Given the description of an element on the screen output the (x, y) to click on. 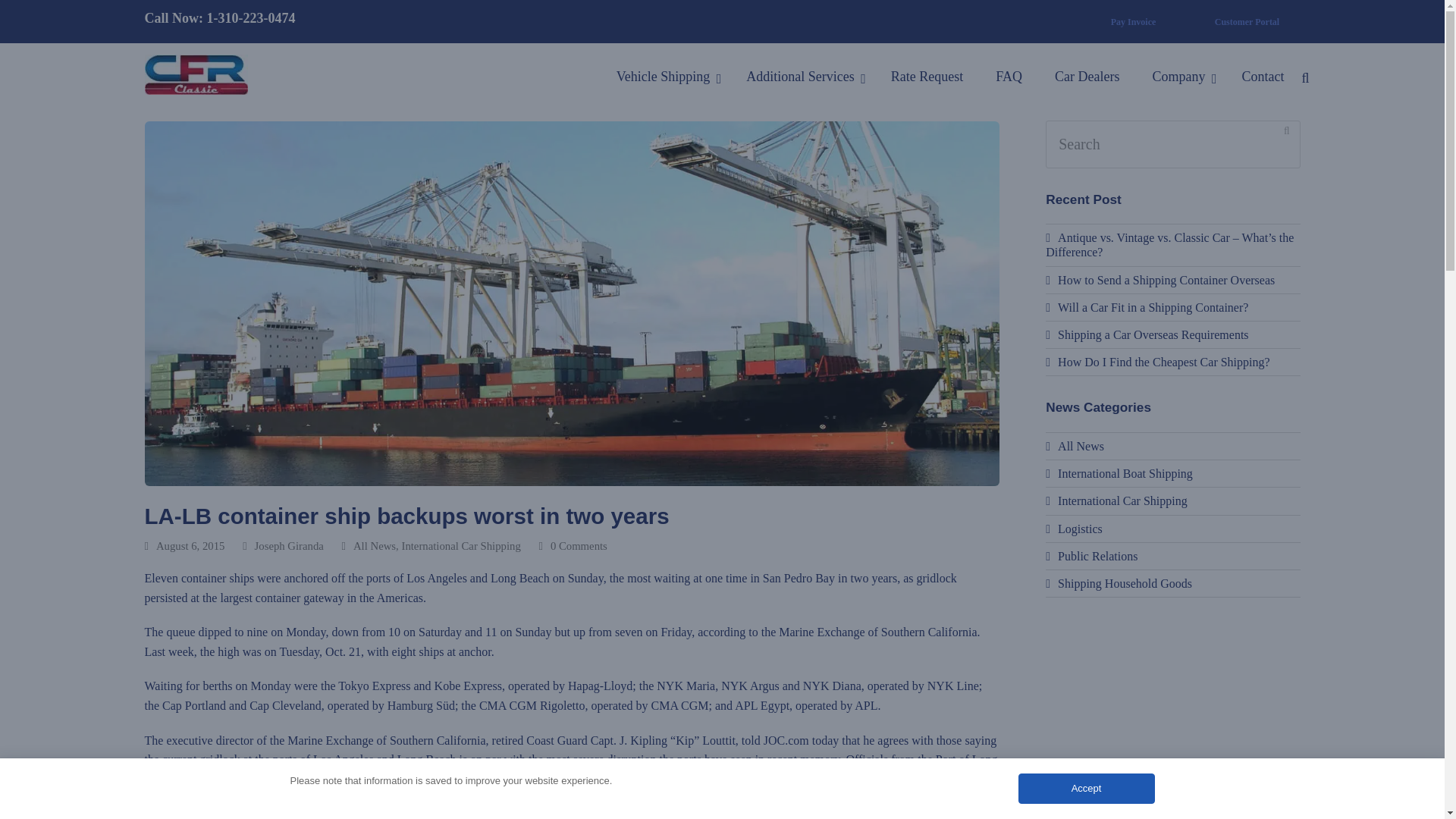
Customer Portal (1246, 21)
Posts by Joseph Giranda (288, 545)
Pay Invoice (1133, 21)
Pay Invoice (1133, 21)
0 Comments (572, 546)
